Given the description of an element on the screen output the (x, y) to click on. 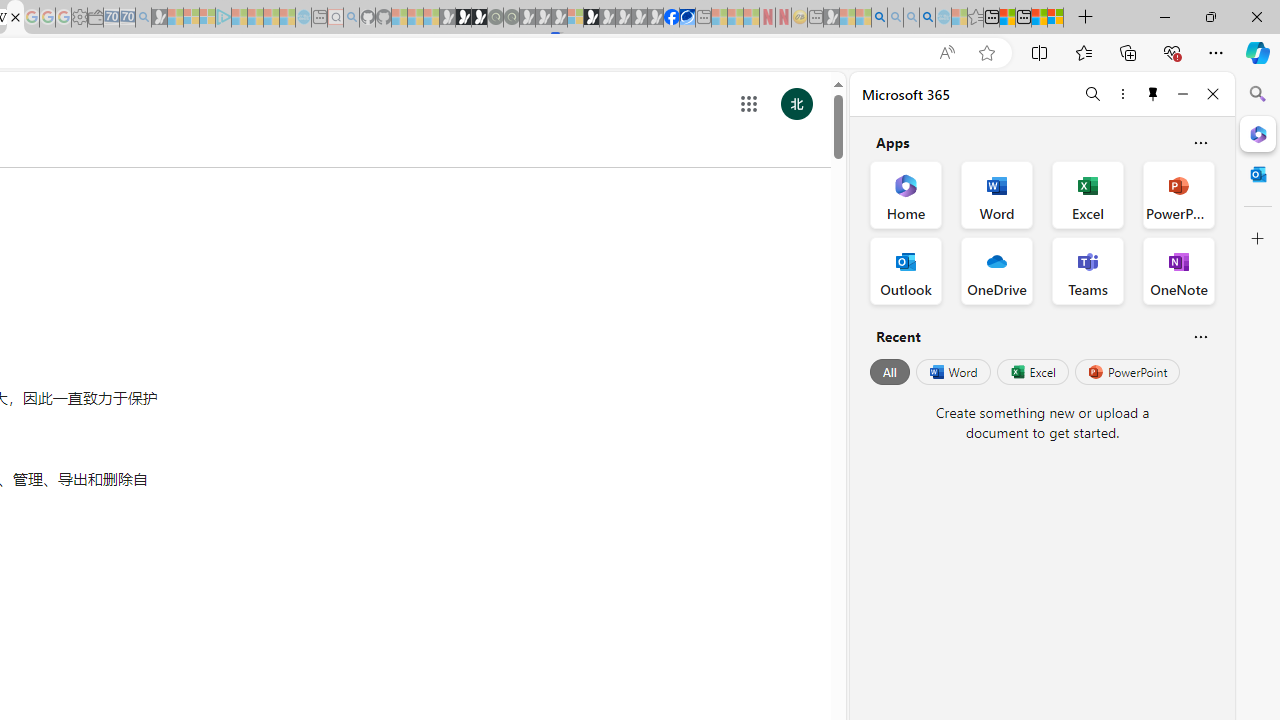
Bing AI - Search (879, 17)
OneDrive Office App (996, 270)
Outlook Office App (906, 270)
AirNow.gov (687, 17)
